Given the description of an element on the screen output the (x, y) to click on. 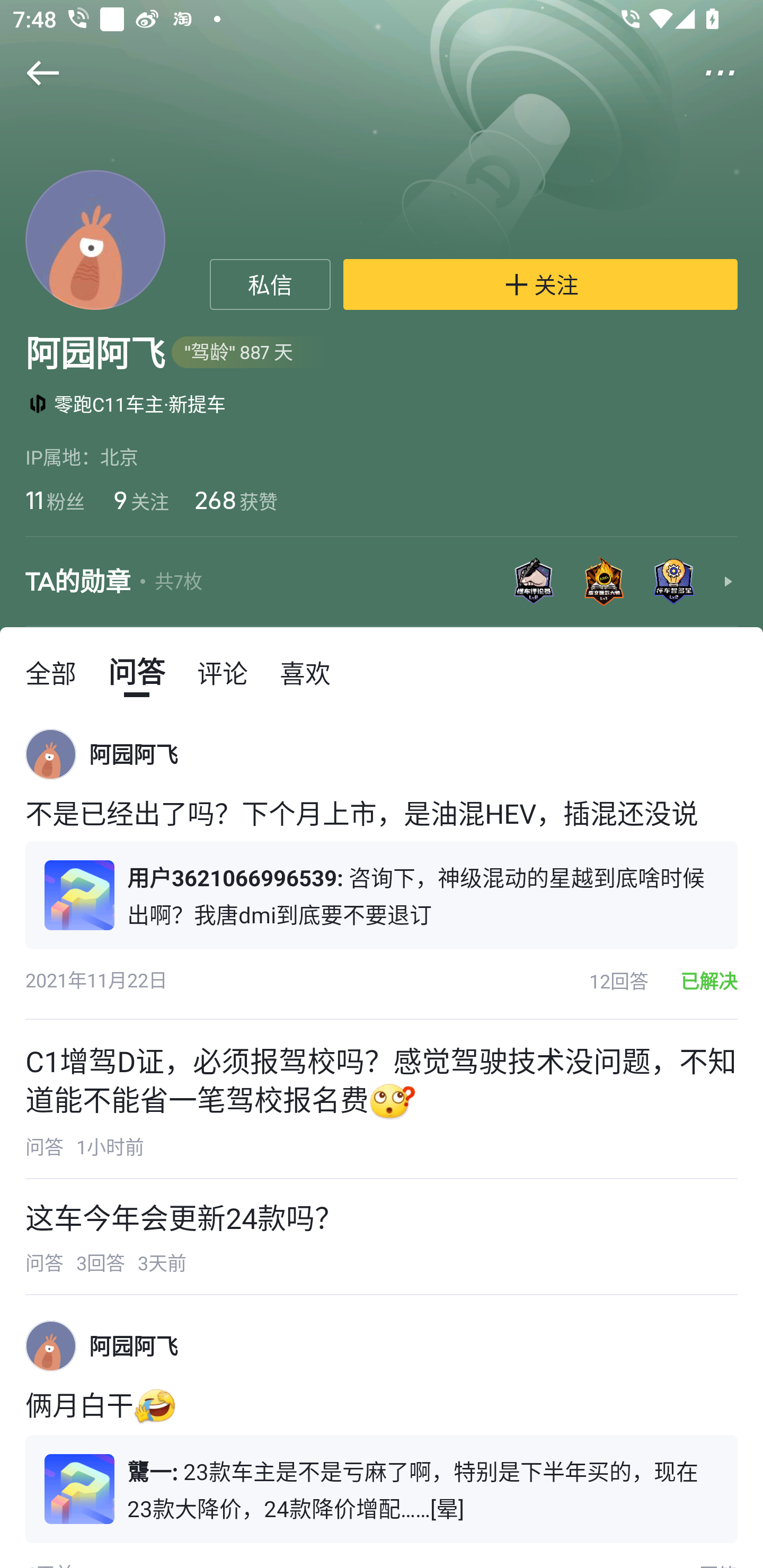
 (30, 72)
 (732, 72)
私信 (269, 284)
 关注 (540, 284)
"驾龄" 887 天 (248, 352)
11 粉丝 (54, 499)
9 关注 (139, 499)
268 获赞 (235, 499)
TA的勋章 共7枚  (381, 582)
全部 (50, 671)
问答 (136, 671)
评论 (221, 671)
喜欢 (305, 671)
阿园阿飞 (133, 753)
不是已经出了吗？下个月上市，是油混HEV，插混还没说 (381, 815)
用户3621066996539: 咨询下，神级混动的星越到底啥时候出啊？我唐dmi到底要不要退订 (381, 894)
这车今年会更新24款吗？ 问答 3回答 3天前 (381, 1237)
阿园阿飞 (133, 1345)
俩月白干[我想静静] (381, 1409)
驡一: 23款车主是不是亏麻了啊，特别是下半年买的，现在23款大降价，24款降价增配……[晕] (381, 1488)
